Given the description of an element on the screen output the (x, y) to click on. 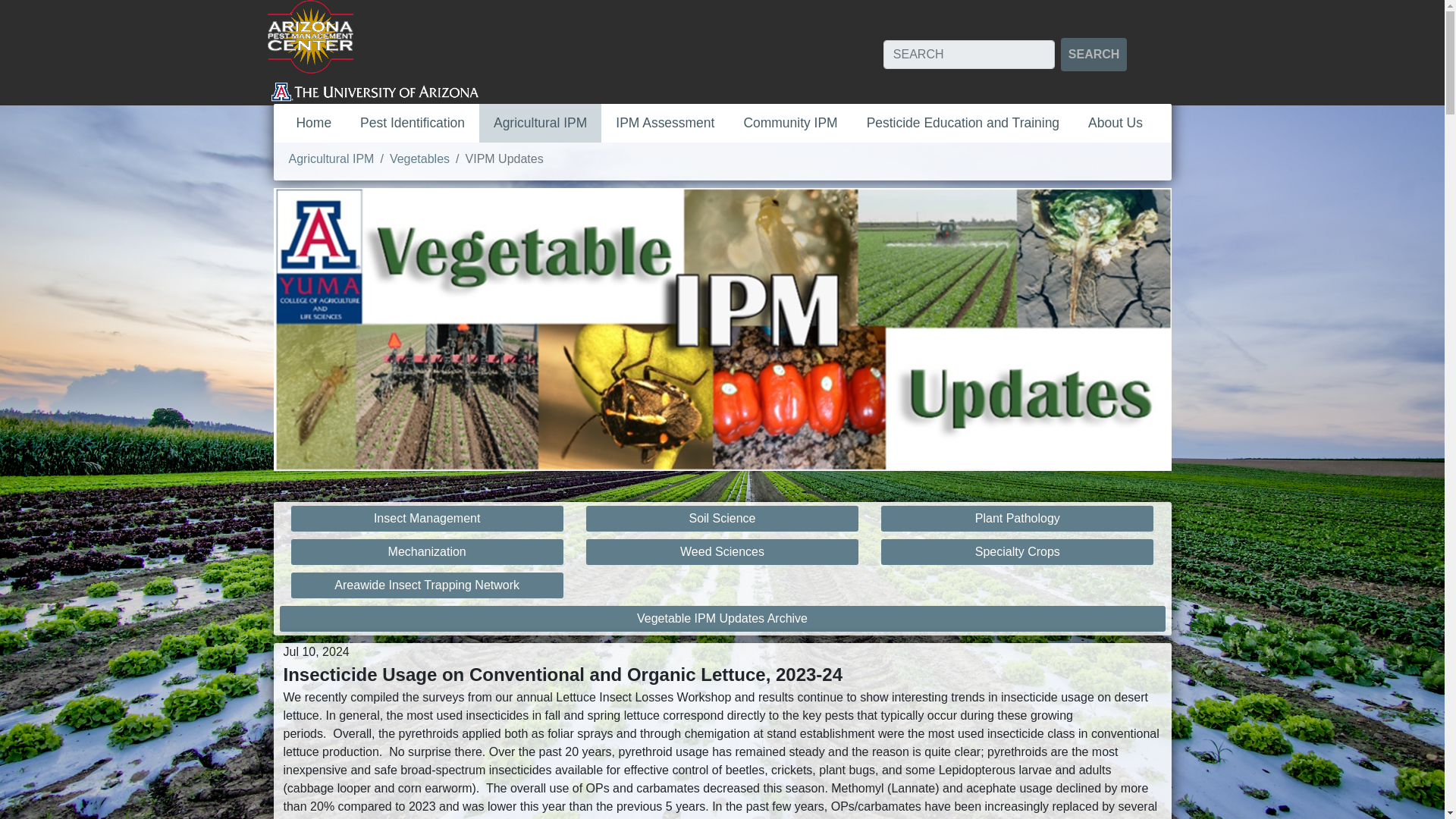
Search input (968, 54)
SEARCH (1093, 54)
